Given the description of an element on the screen output the (x, y) to click on. 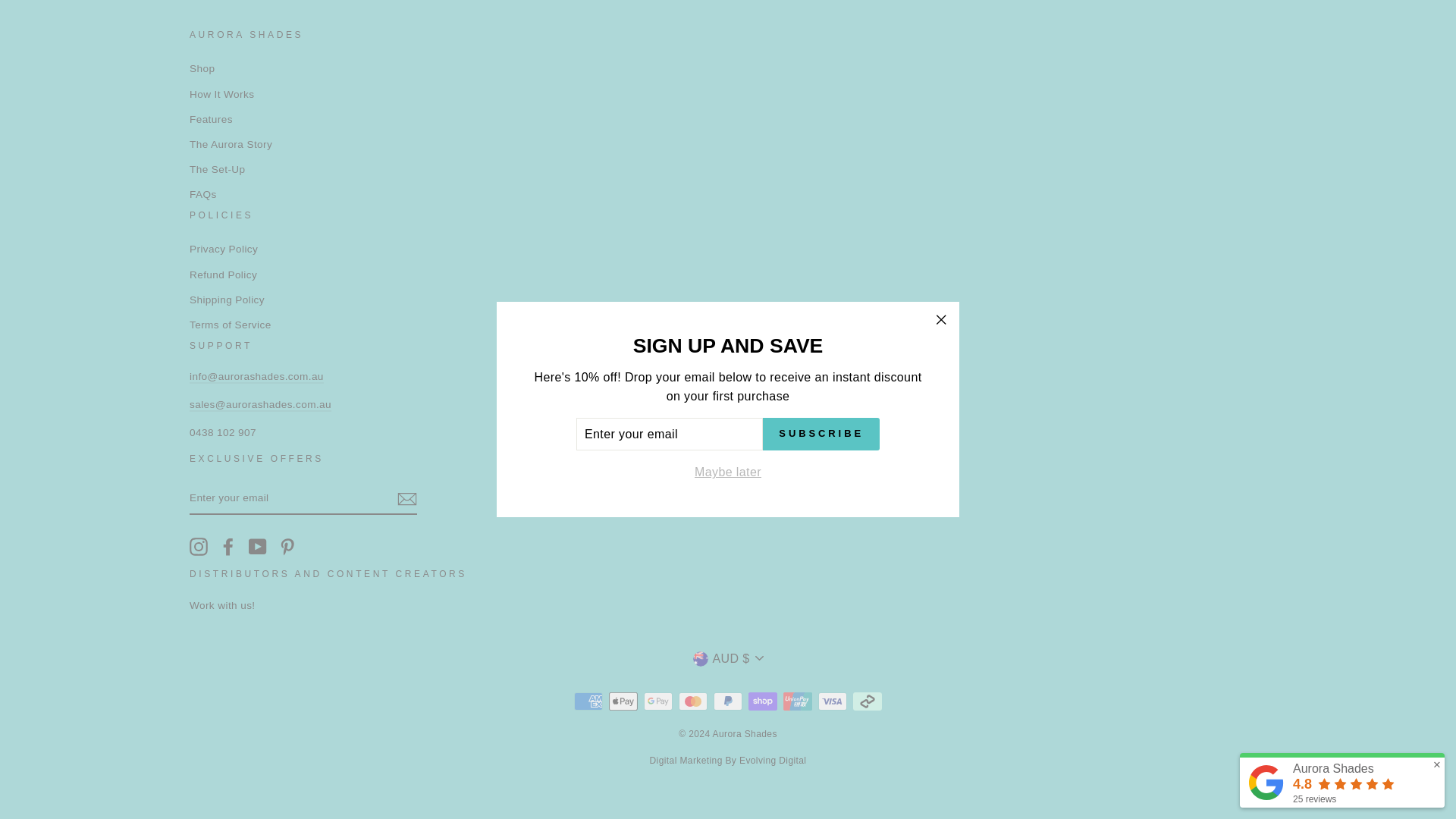
Google Pay (657, 701)
Shop Pay (762, 701)
Visa (832, 701)
Apple Pay (622, 701)
American Express (587, 701)
Mastercard (692, 701)
Union Pay (797, 701)
PayPal (727, 701)
